Given the description of an element on the screen output the (x, y) to click on. 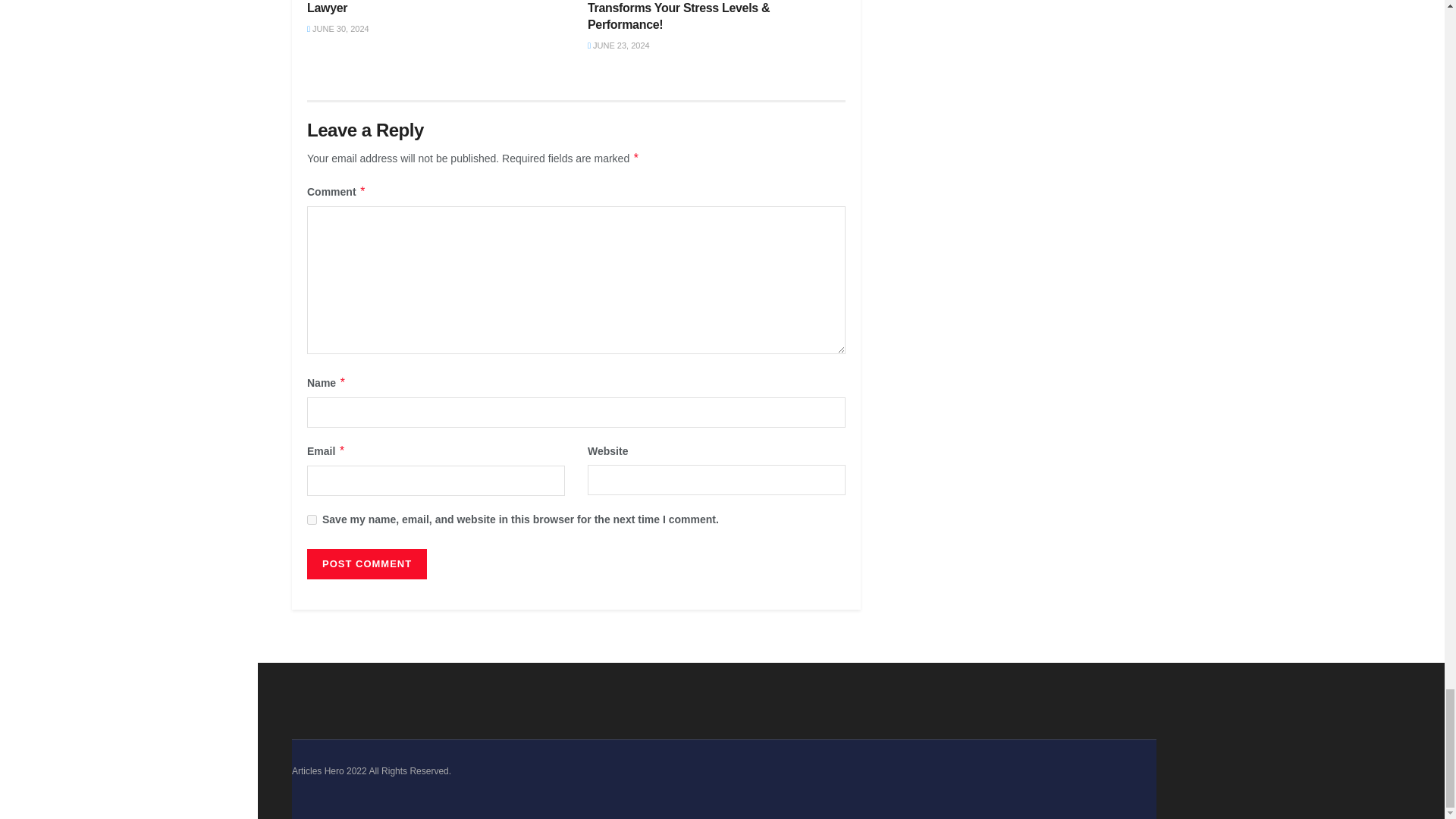
Post Comment (366, 563)
yes (312, 519)
